Given the description of an element on the screen output the (x, y) to click on. 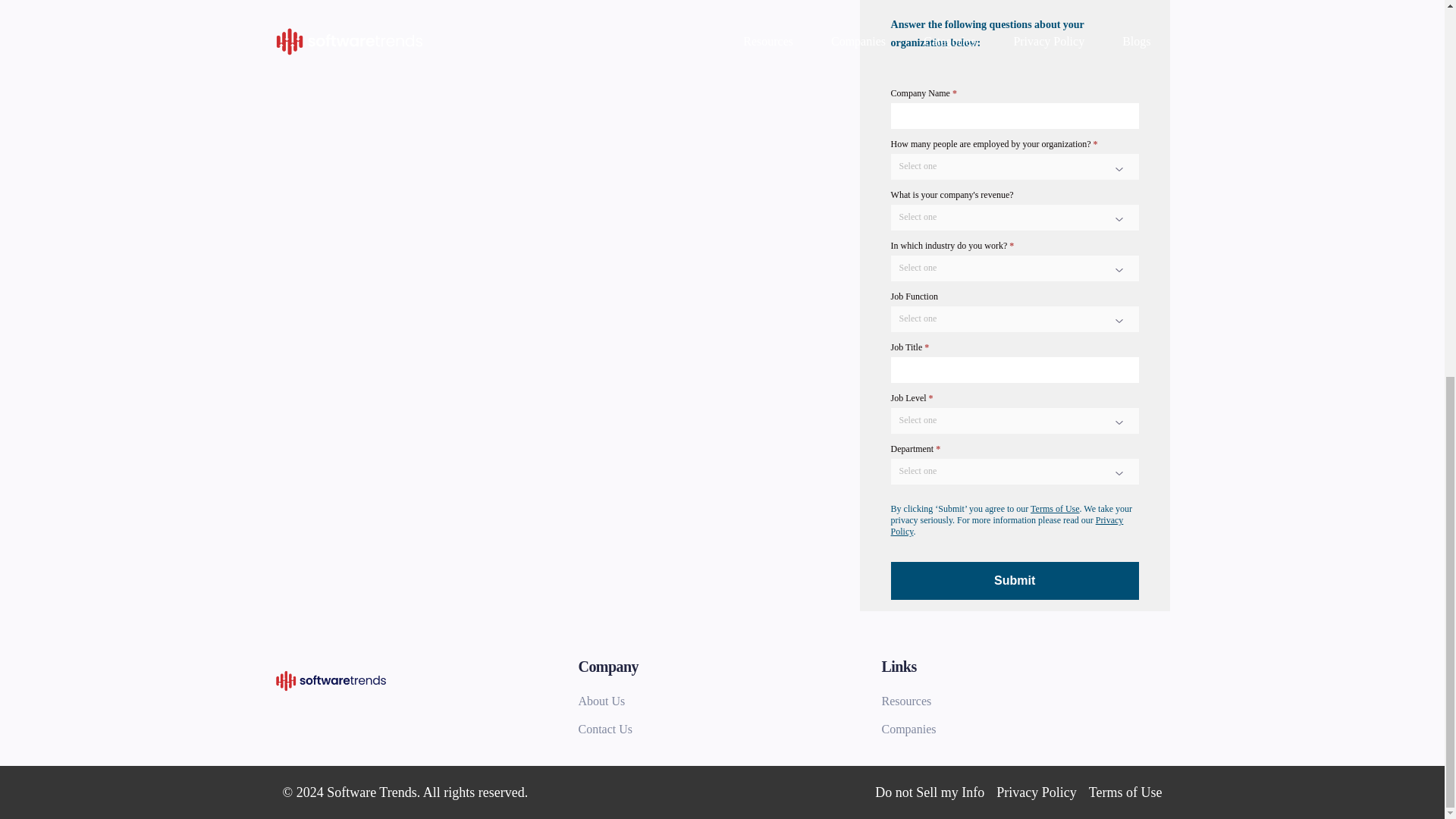
Do not Sell my Info (929, 792)
Submit (1014, 580)
Terms of Use (1125, 792)
Resources (1024, 700)
Terms of Use (1054, 508)
Companies (1024, 729)
Contact Us (722, 729)
About Us (722, 700)
Privacy Policy (1007, 526)
Privacy Policy (1036, 792)
